Given the description of an element on the screen output the (x, y) to click on. 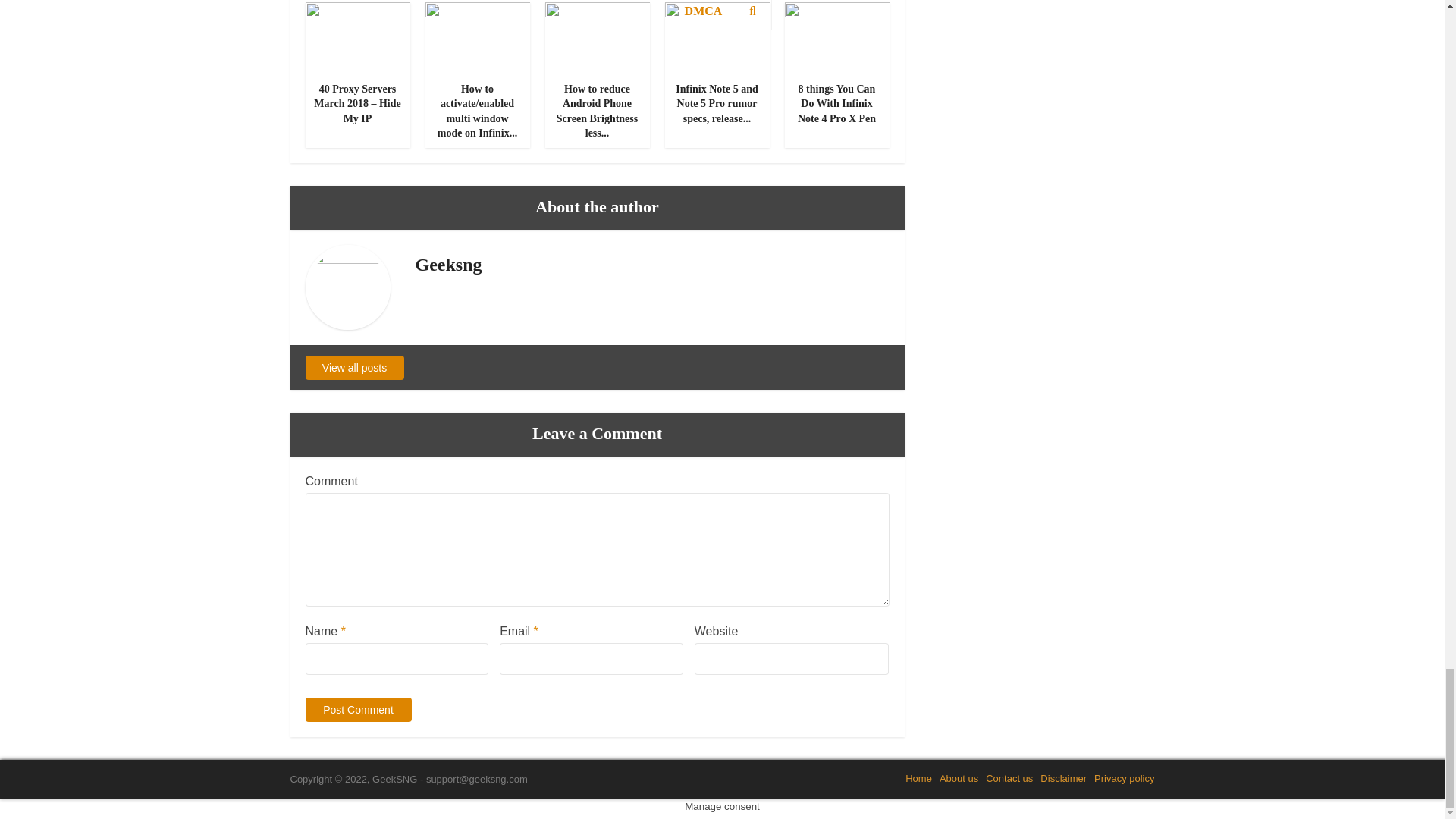
Post Comment (357, 709)
